Given the description of an element on the screen output the (x, y) to click on. 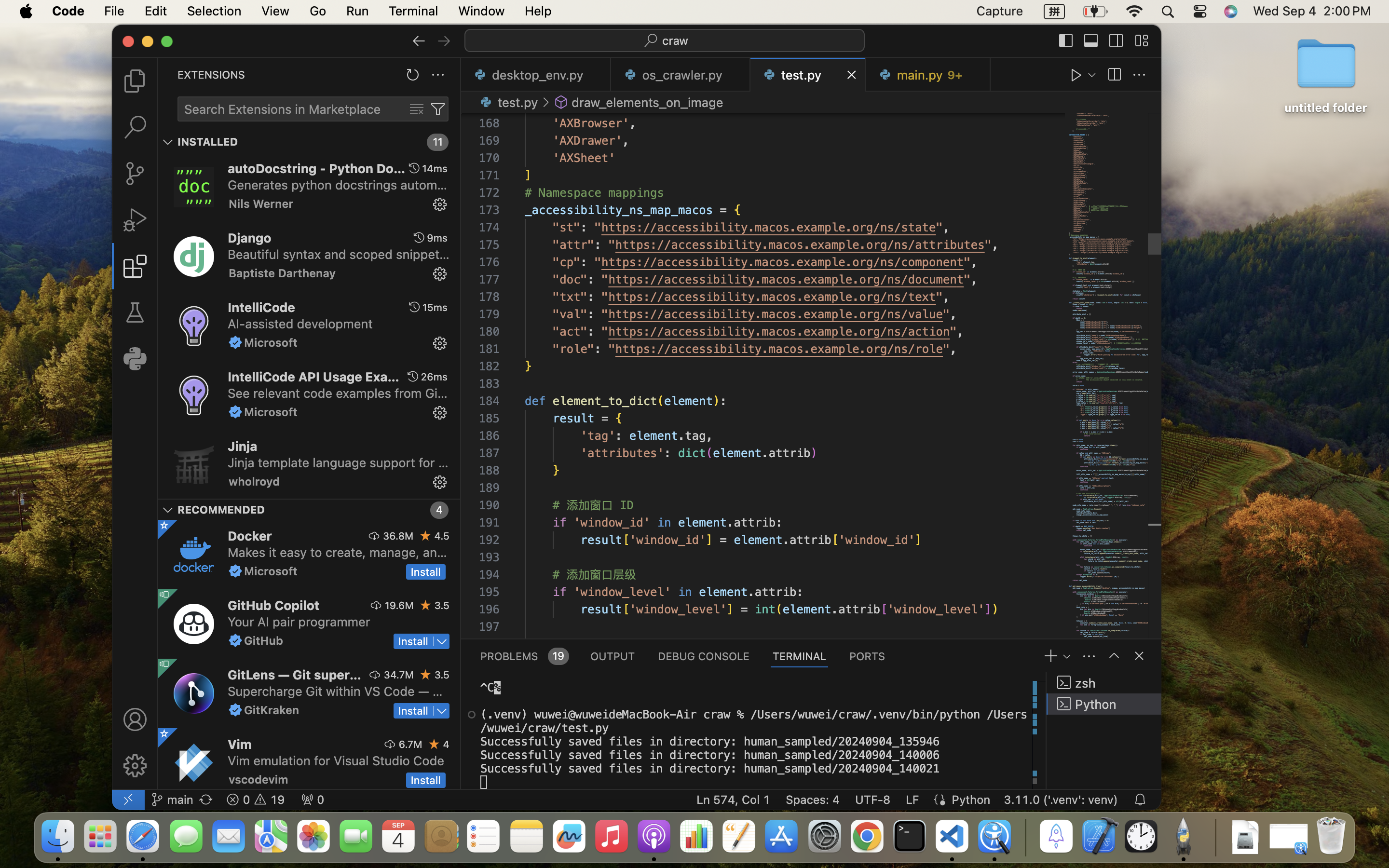
EXTENSIONS Element type: AXStaticText (211, 74)
 Element type: AXGroup (134, 765)
0 desktop_env.py   Element type: AXRadioButton (536, 74)
 Element type: AXButton (439, 204)
autoDocstring - Python Docstring Generator Element type: AXStaticText (316, 168)
